Given the description of an element on the screen output the (x, y) to click on. 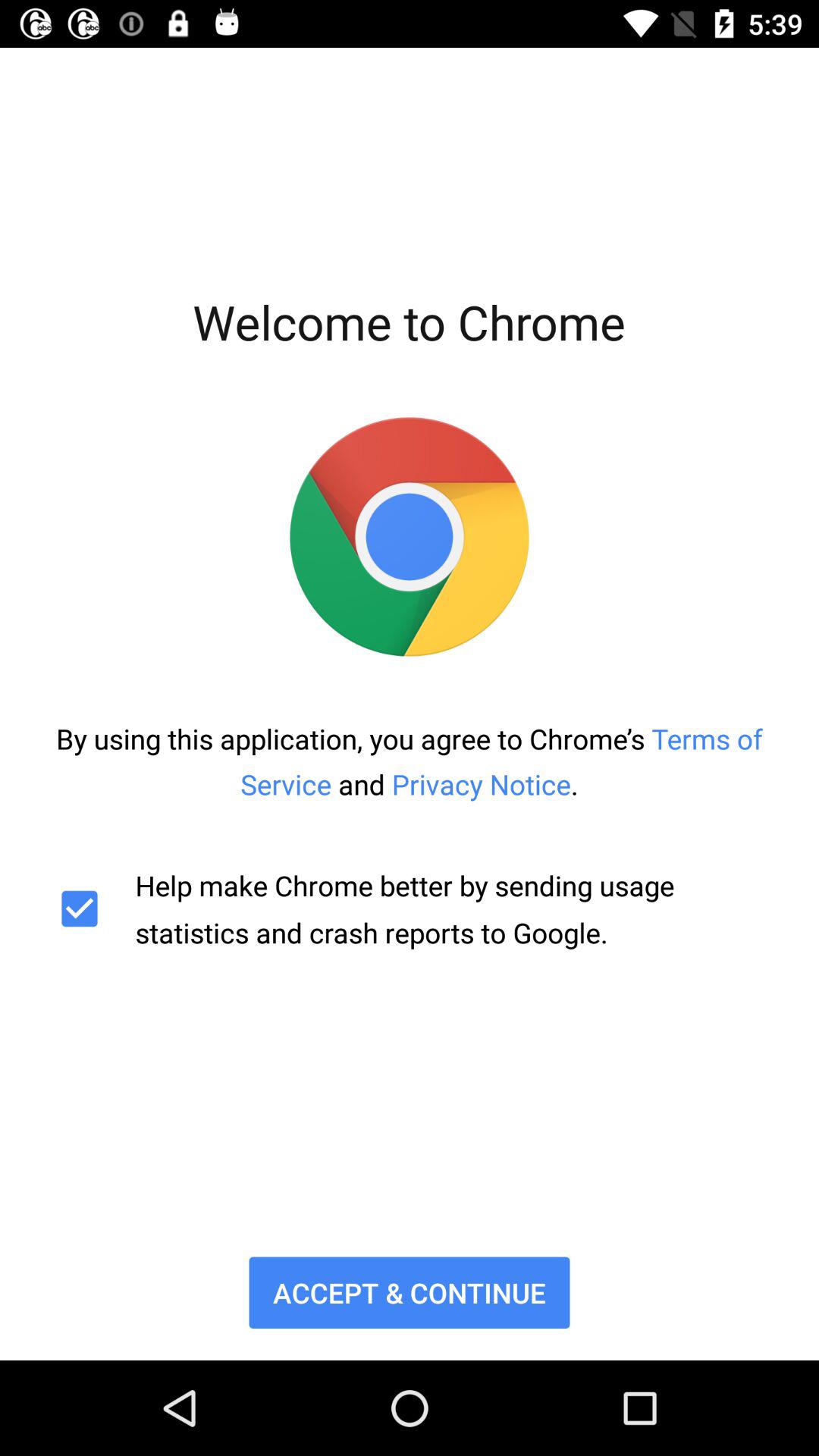
swipe to the accept & continue item (409, 1292)
